Given the description of an element on the screen output the (x, y) to click on. 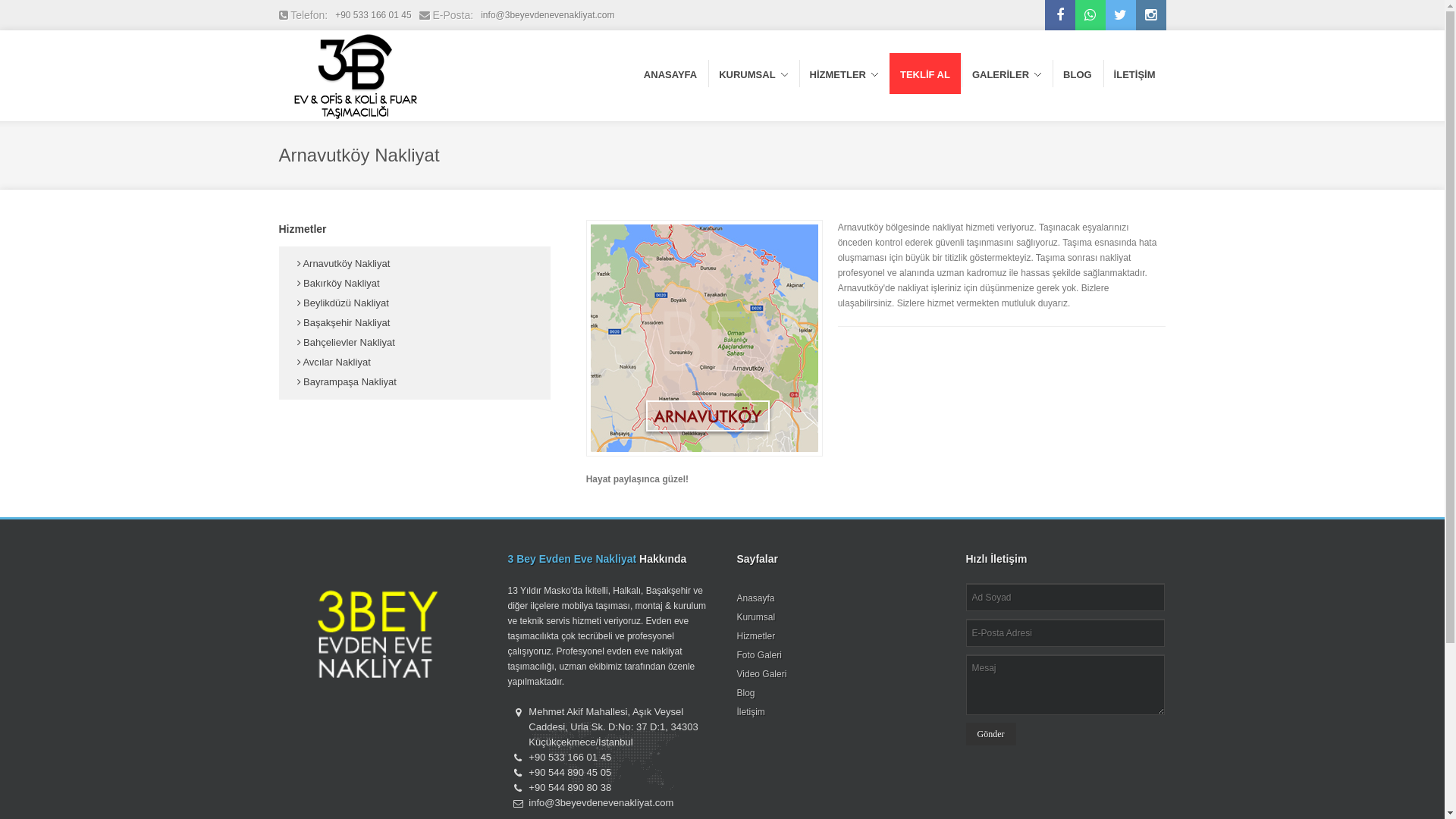
Hizmetler Element type: text (756, 635)
Foto Galeri Element type: text (759, 654)
ANASAYFA Element type: text (670, 73)
info@3beyevdenevenakliyat.com Element type: text (547, 14)
Blog Element type: text (746, 692)
+90 533 166 01 45 Element type: text (373, 14)
BLOG Element type: text (1077, 73)
Anasayfa Element type: text (756, 598)
Kurumsal Element type: text (756, 616)
Video Galeri Element type: text (762, 673)
KURUMSAL Element type: text (752, 73)
